Given the description of an element on the screen output the (x, y) to click on. 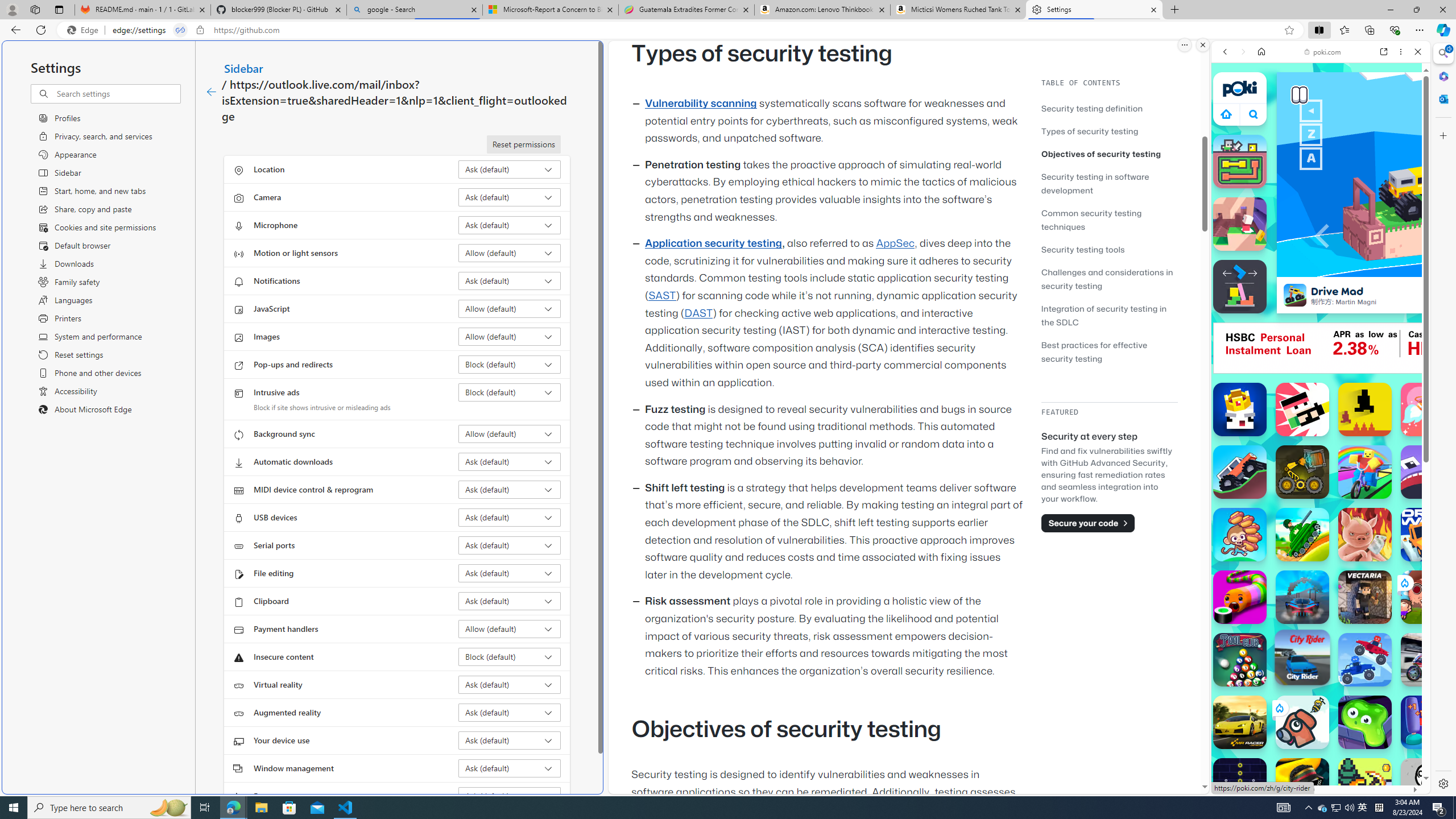
Super Tunnel Rush (1302, 597)
Sports Games (1320, 379)
MR RACER - Car Racing MR RACER - Car Racing (1239, 722)
Io Games (1320, 351)
Notifications Ask (default) (509, 280)
Hills of Steel (1302, 534)
Monster Match (1239, 161)
Gobble Gobble (1427, 471)
Monkey Mart Monkey Mart (1239, 534)
Games for Girls (1320, 407)
Rainbow Obby (1364, 471)
Super Bike the Champion Super Bike the Champion (1427, 659)
